Given the description of an element on the screen output the (x, y) to click on. 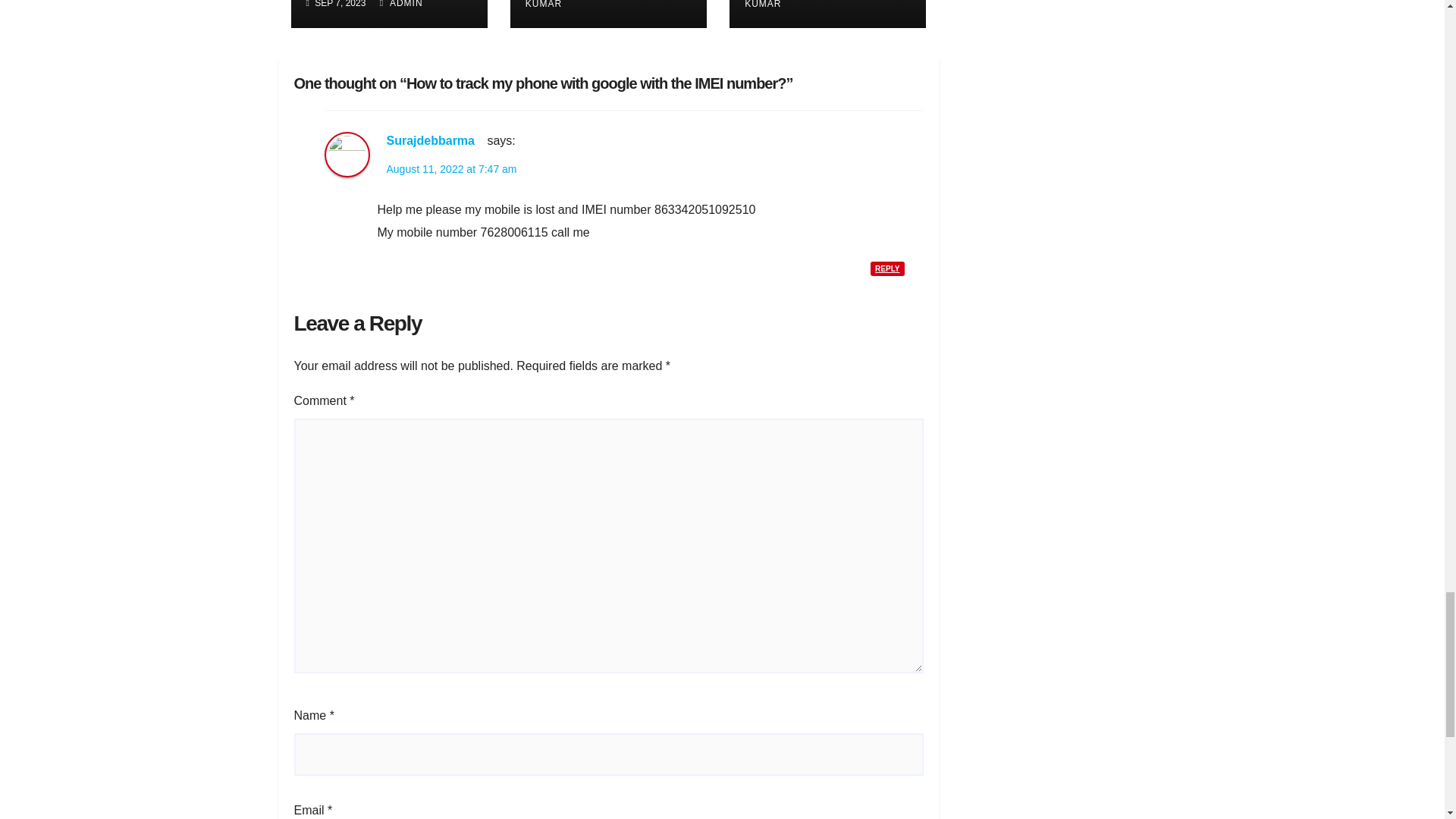
Permalink to: GPS Phone Tracker Lost and Found Made Easy (382, 2)
